Given the description of an element on the screen output the (x, y) to click on. 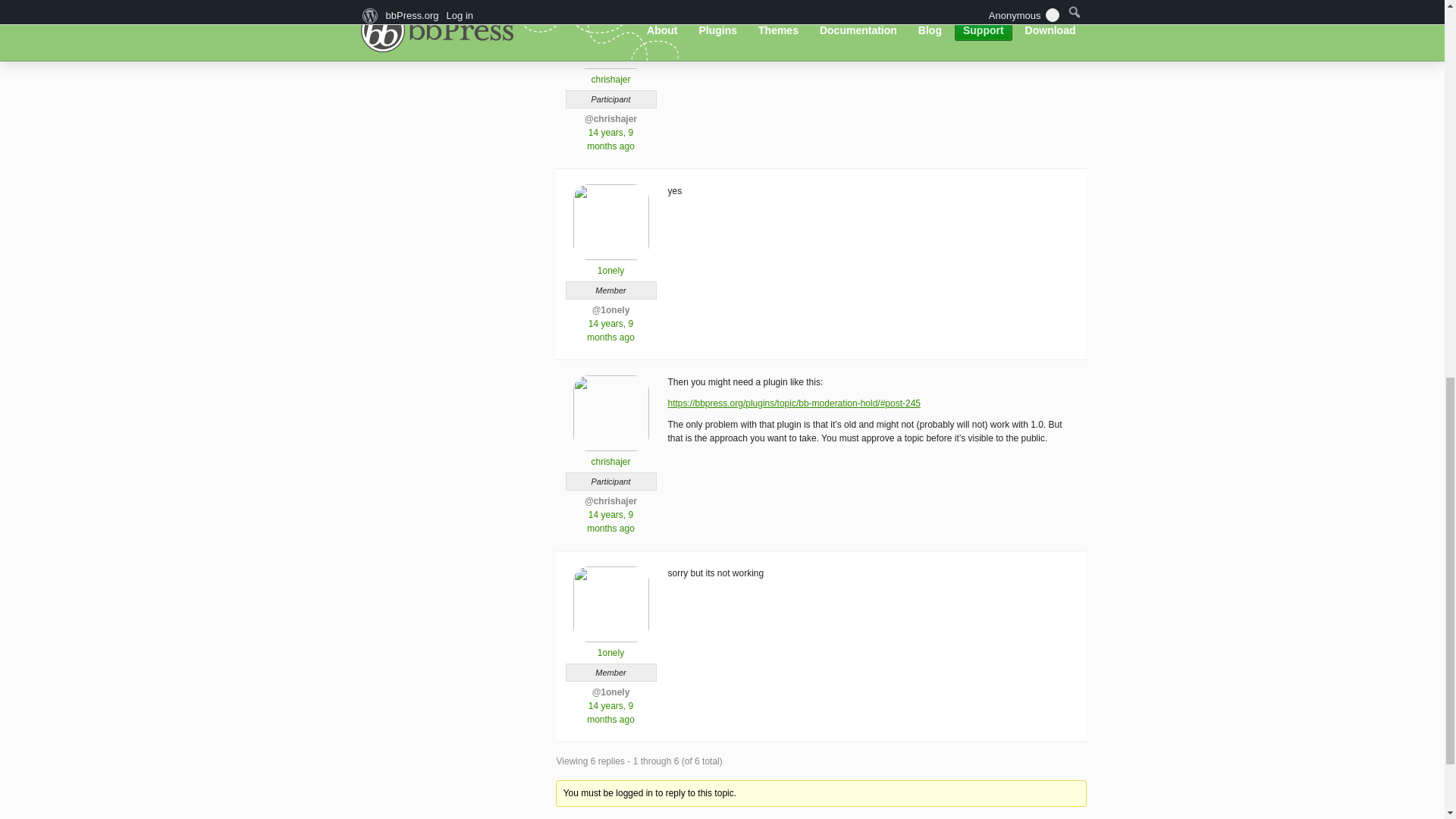
1onely (609, 264)
chrishajer (609, 455)
14 years, 9 months ago (610, 139)
14 years, 9 months ago (610, 521)
14 years, 9 months ago (610, 712)
14 years, 9 months ago (610, 330)
1onely (609, 646)
chrishajer (609, 73)
